Given the description of an element on the screen output the (x, y) to click on. 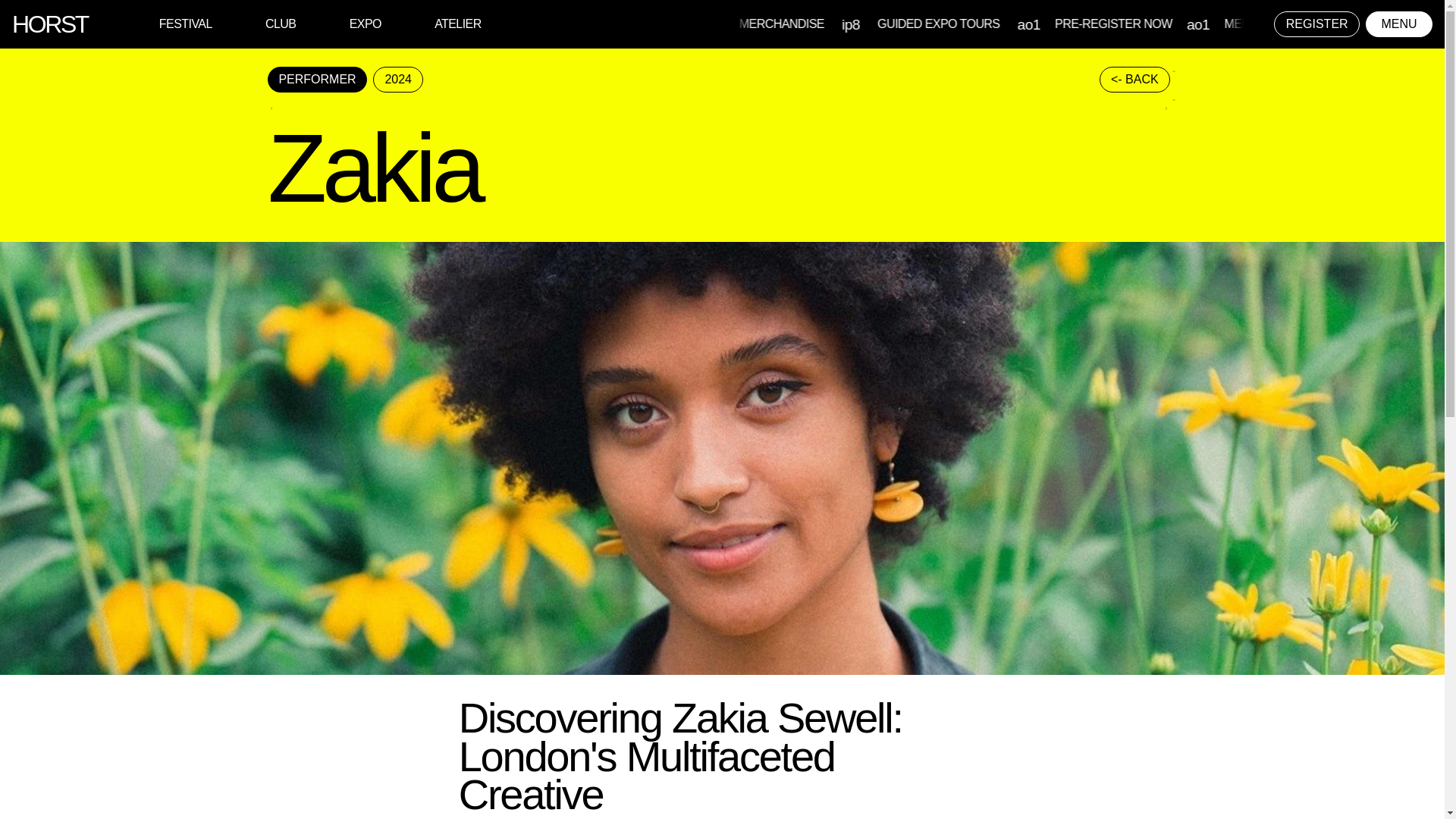
PRE-REGISTER NOW (1257, 23)
EXPO (365, 23)
HORST (49, 24)
MERCHANDISE (931, 23)
GUIDED EXPO TOURS (1083, 23)
PRE-REGISTER NOW (779, 23)
CLUB (279, 23)
ATELIER (457, 23)
FESTIVAL (185, 23)
